Given the description of an element on the screen output the (x, y) to click on. 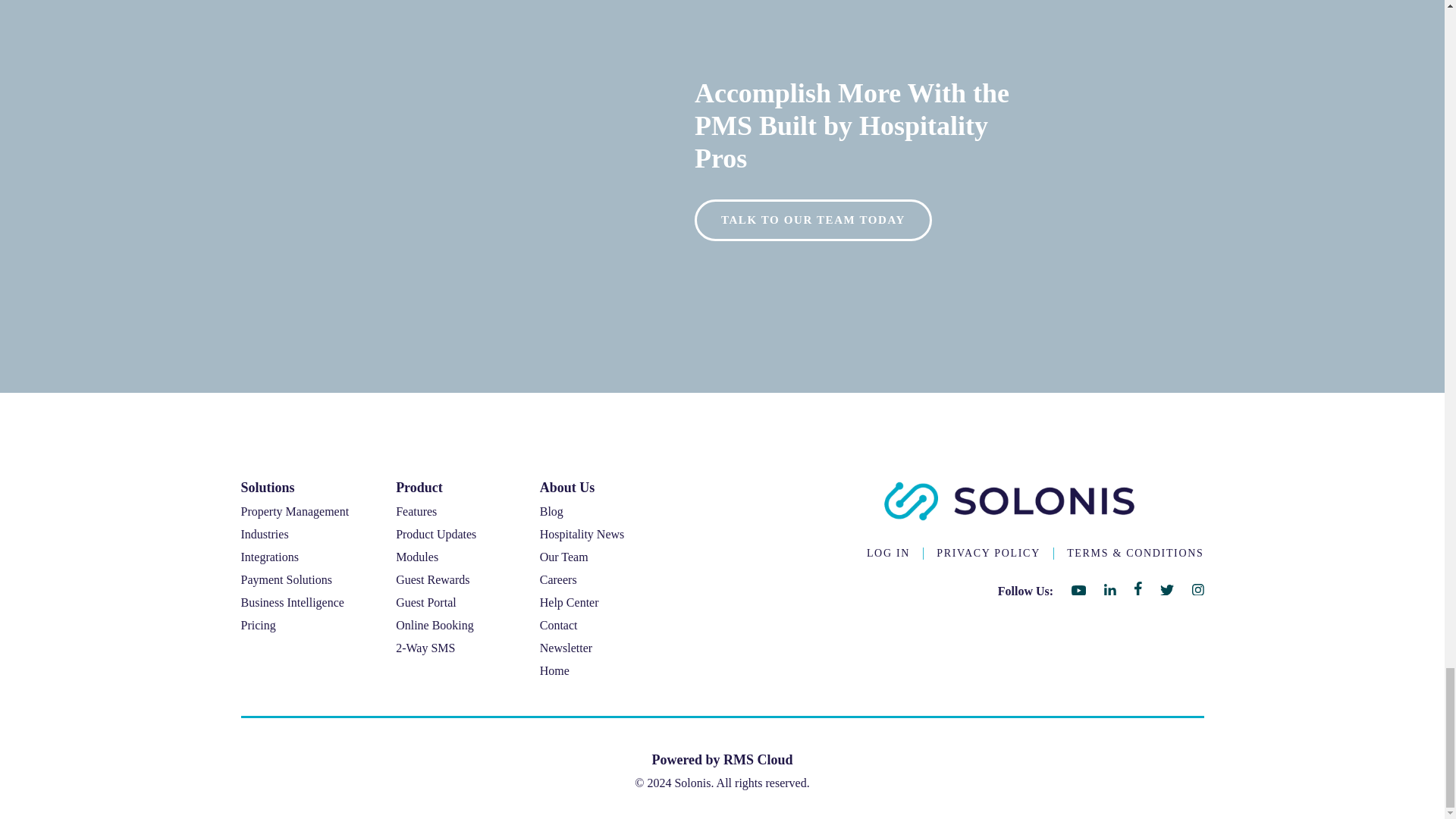
SOLONIS LOGO  (1008, 500)
LOG IN (888, 553)
TALK TO OUR TEAM TODAY (812, 219)
